Given the description of an element on the screen output the (x, y) to click on. 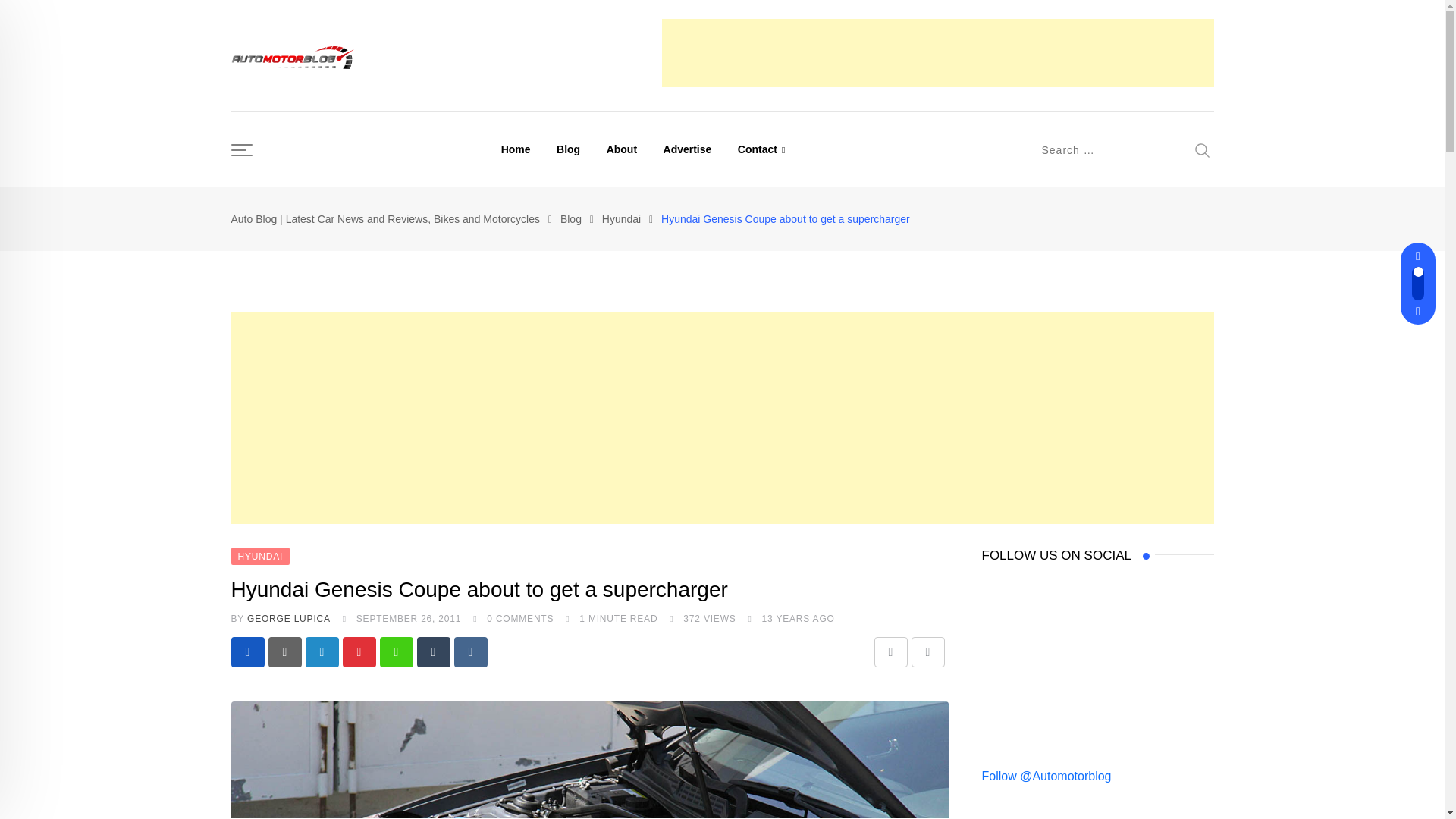
Advertise (687, 149)
Sign Up Now (1027, 551)
Contact (761, 149)
on (986, 512)
Posts by George Lupica (288, 618)
Go to the Hyundai Category archives. (621, 218)
Go to Blog. (570, 218)
